Given the description of an element on the screen output the (x, y) to click on. 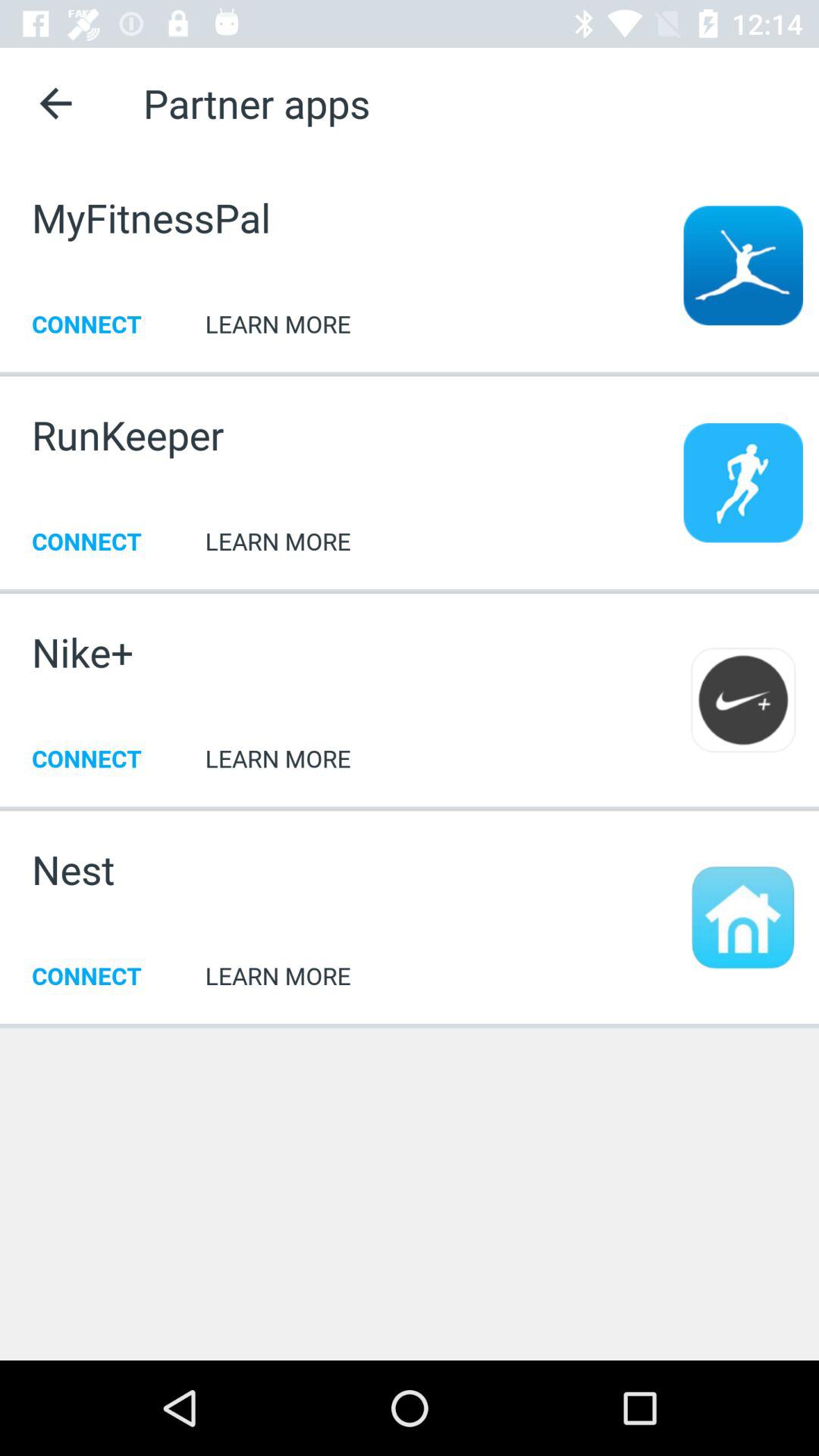
tap the item below connect (409, 590)
